Given the description of an element on the screen output the (x, y) to click on. 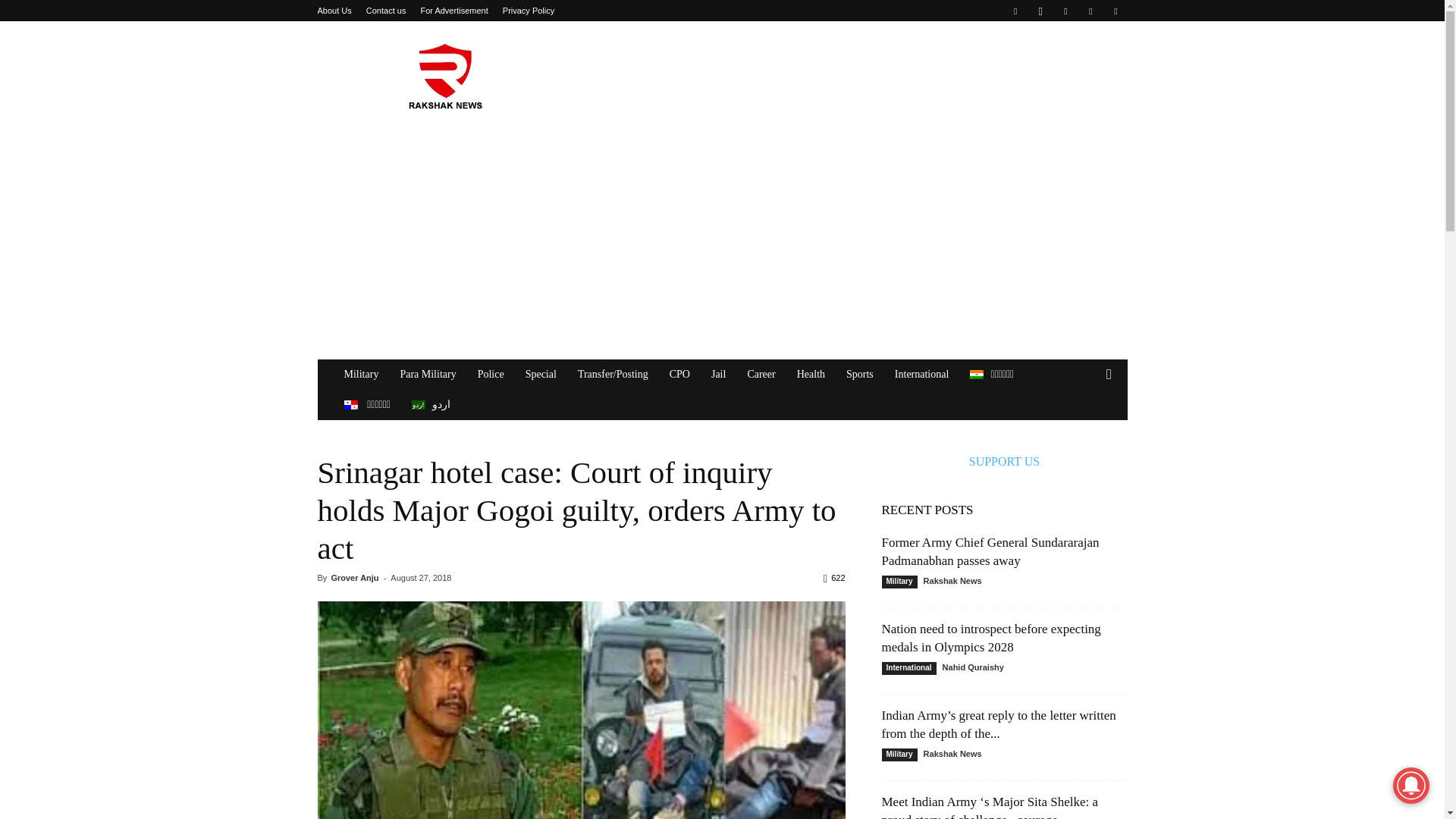
Youtube (1114, 10)
Twitter (1090, 10)
Privacy Policy (528, 10)
Facebook (1015, 10)
Police (491, 374)
Contact us (386, 10)
CPO (679, 374)
Military (361, 374)
Special (541, 374)
